Given the description of an element on the screen output the (x, y) to click on. 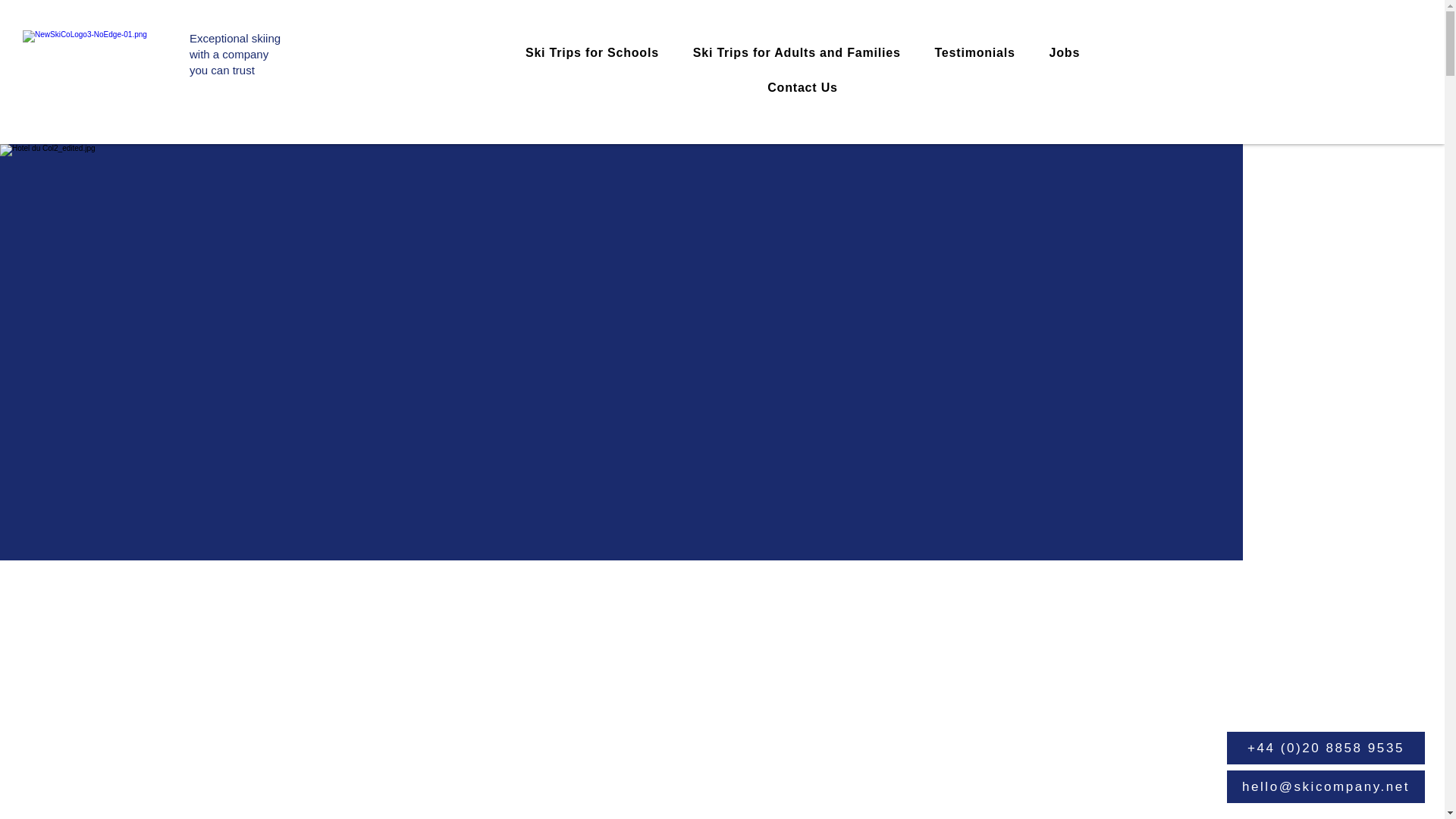
Ski Trips for Schools (591, 52)
Testimonials (974, 52)
Jobs (235, 53)
Ski Trips for Adults and Families (1064, 52)
Contact Us (796, 52)
